Given the description of an element on the screen output the (x, y) to click on. 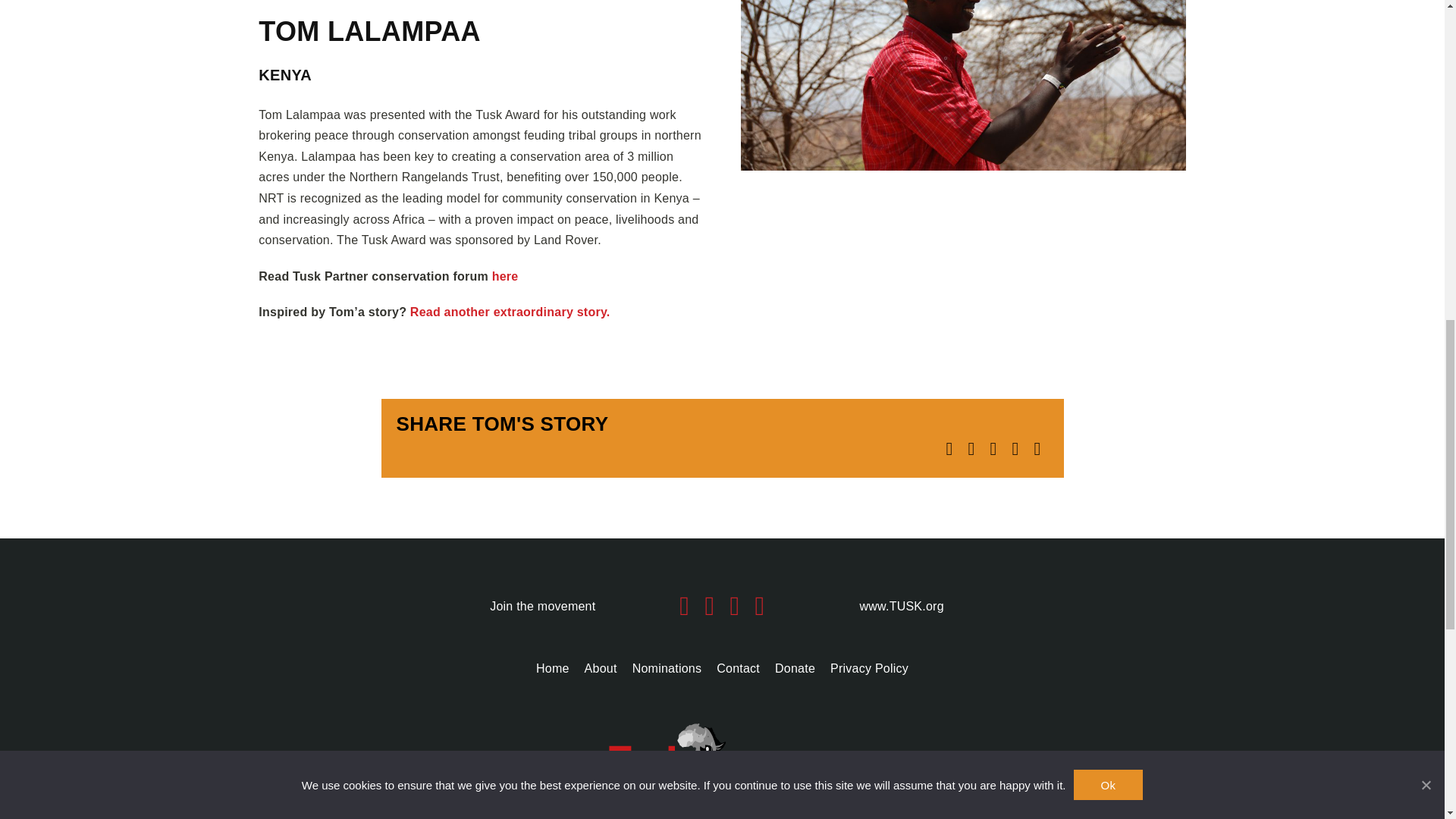
Tom Lalampaa 1 (963, 85)
